Given the description of an element on the screen output the (x, y) to click on. 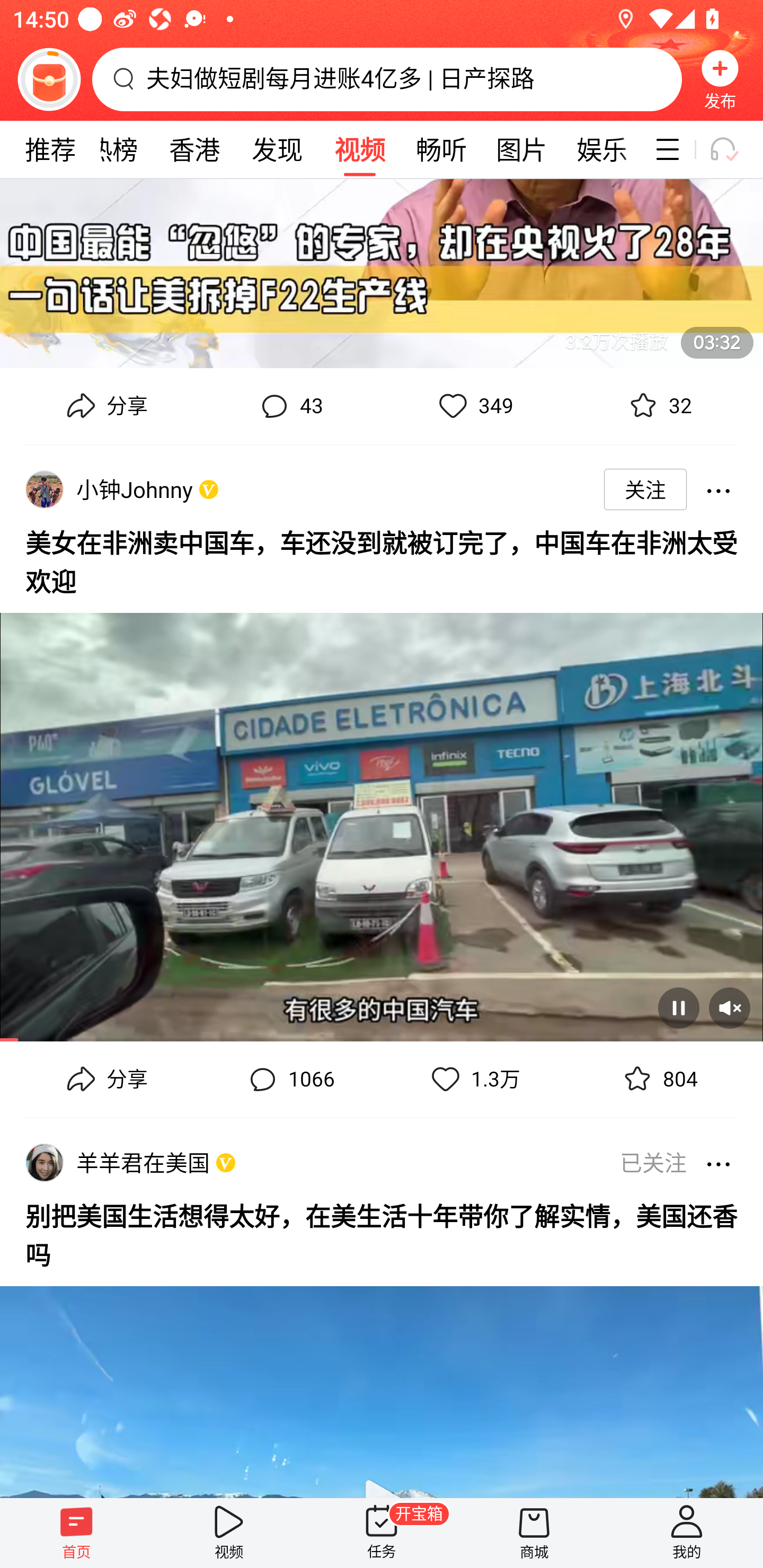
阅读赚金币 (48, 79)
夫妇做短剧每月进账4亿多 | 日产探路 搜索框，夫妇做短剧每月进账4亿多 | 日产探路 (387, 79)
发布 发布，按钮 (720, 78)
推荐 (49, 149)
香港 (194, 149)
发现 (276, 149)
视频 (359, 149)
畅听 (441, 149)
图片 (521, 149)
娱乐 (601, 149)
科技 (643, 149)
听一听开关 (732, 149)
分享 (104, 405)
评论,43 43 (288, 405)
收藏,32 32 (658, 405)
关注 (645, 488)
更多 (718, 488)
小钟Johnny头像 (44, 489)
小钟Johnny 小钟Johnny  已认证 (137, 488)
美女在非洲卖中国车，车还没到就被订完了，中国车在非洲太受欢迎 (381, 559)
视频播放器，双击唤起播放控制 取消静音 (381, 819)
取消静音 (729, 1007)
分享 (104, 1079)
评论,1066 1066 (288, 1079)
收藏,804 804 (658, 1079)
已关注 (647, 1162)
更多 (718, 1162)
羊羊君在美国头像 (44, 1162)
羊羊君在美国 羊羊君在美国  已认证 (145, 1162)
别把美国生活想得太好，在美生活十年带你了解实情，美国还香吗 (381, 1232)
首页 (76, 1532)
视频 (228, 1532)
任务 开宝箱 (381, 1532)
商城 (533, 1532)
我的 (686, 1532)
